Given the description of an element on the screen output the (x, y) to click on. 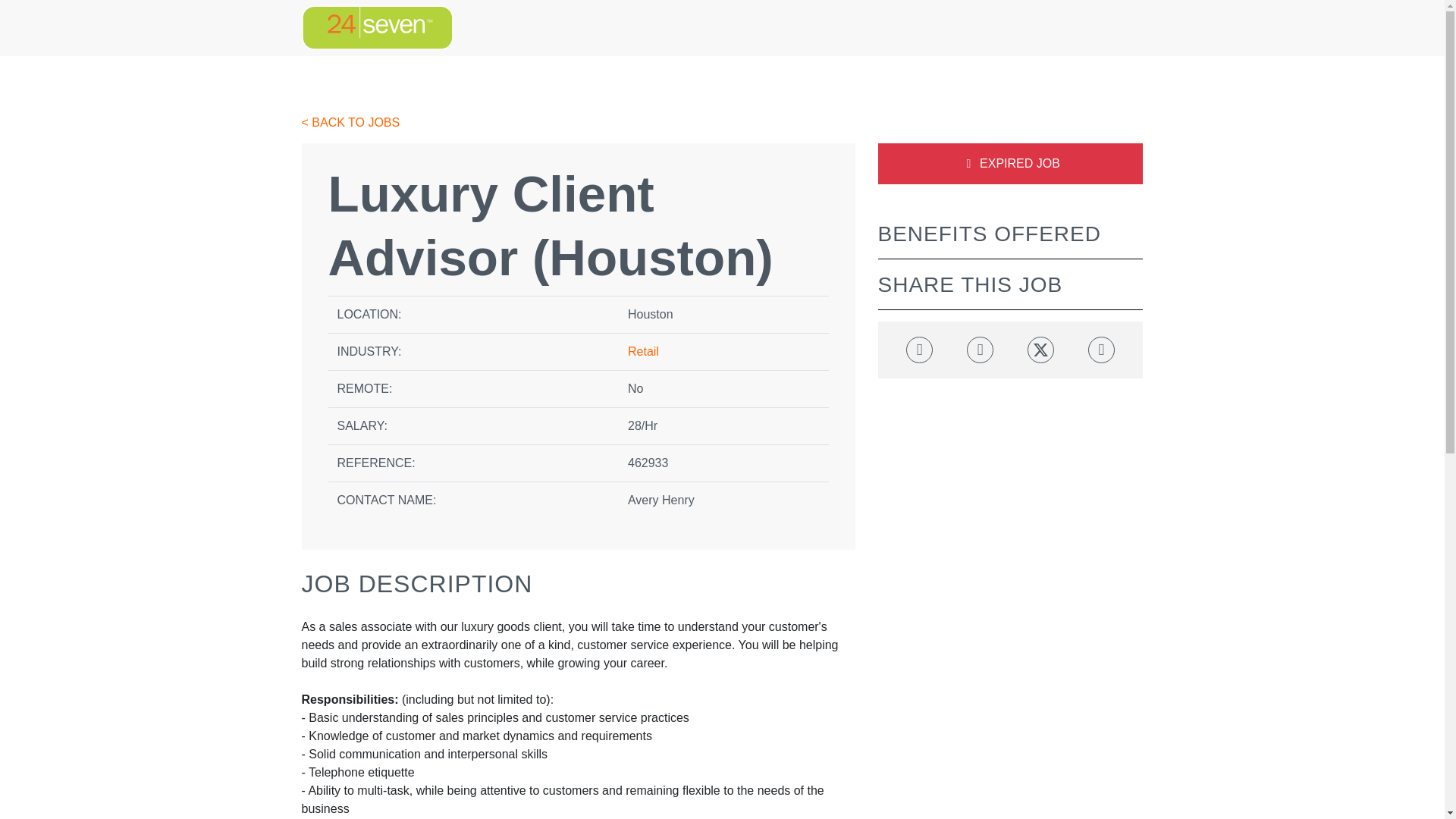
24 Seven (376, 27)
LinkedIn (979, 349)
Email (1101, 349)
24 Seven Talent (376, 27)
BENEFITS OFFERED (988, 233)
Facebook (919, 349)
Retail (643, 350)
Twitter (1040, 349)
24 Seven (376, 27)
